Given the description of an element on the screen output the (x, y) to click on. 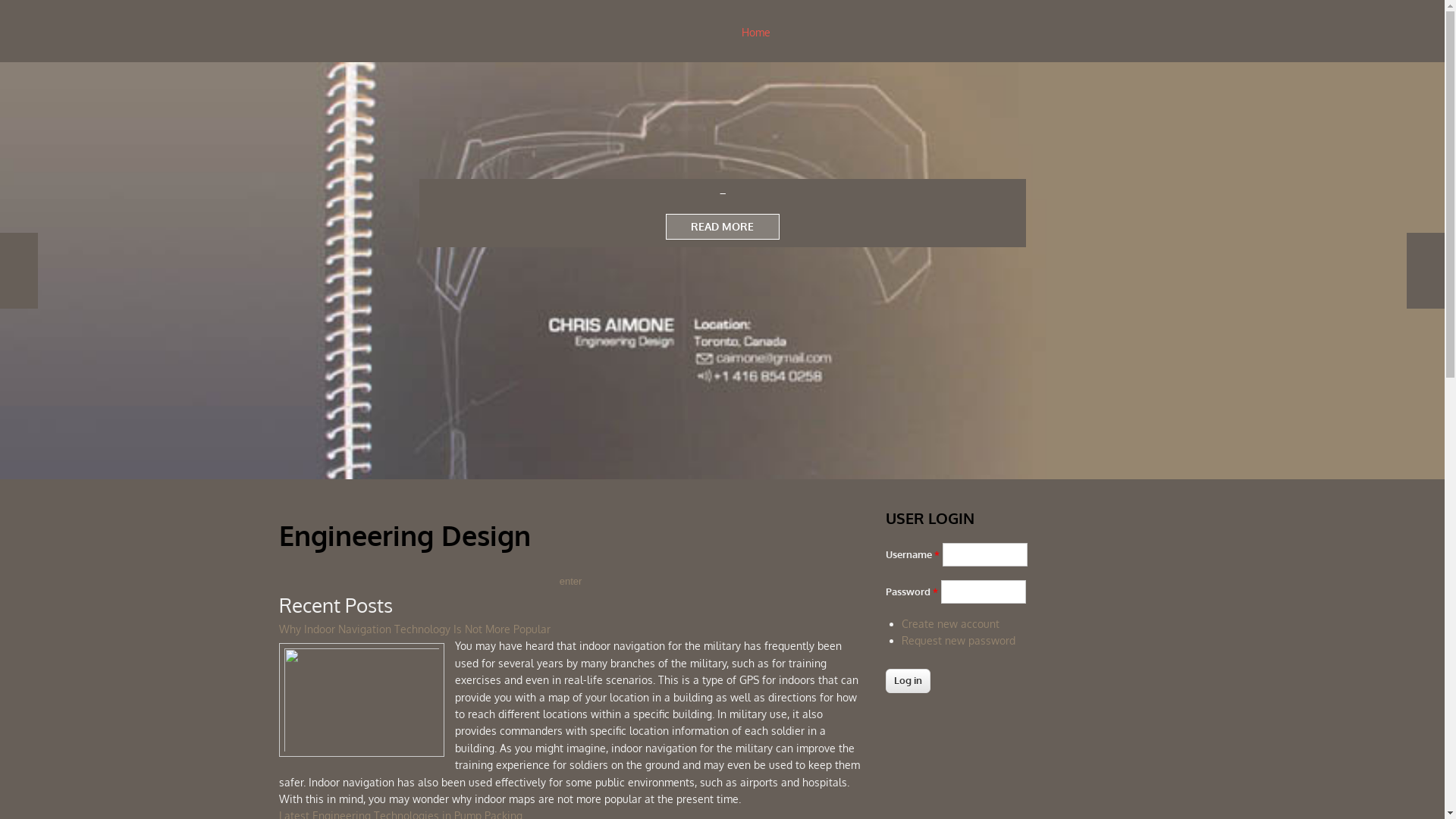
READ MORE Element type: text (722, 226)
Why Indoor Navigation Technology Is Not More Popular Element type: text (414, 628)
Log in Element type: text (908, 680)
Next Element type: text (1425, 270)
Request new password Element type: text (958, 639)
Home Element type: text (756, 32)
enter Element type: text (570, 580)
Previous Element type: text (18, 270)
Create new account Element type: text (950, 623)
